Given the description of an element on the screen output the (x, y) to click on. 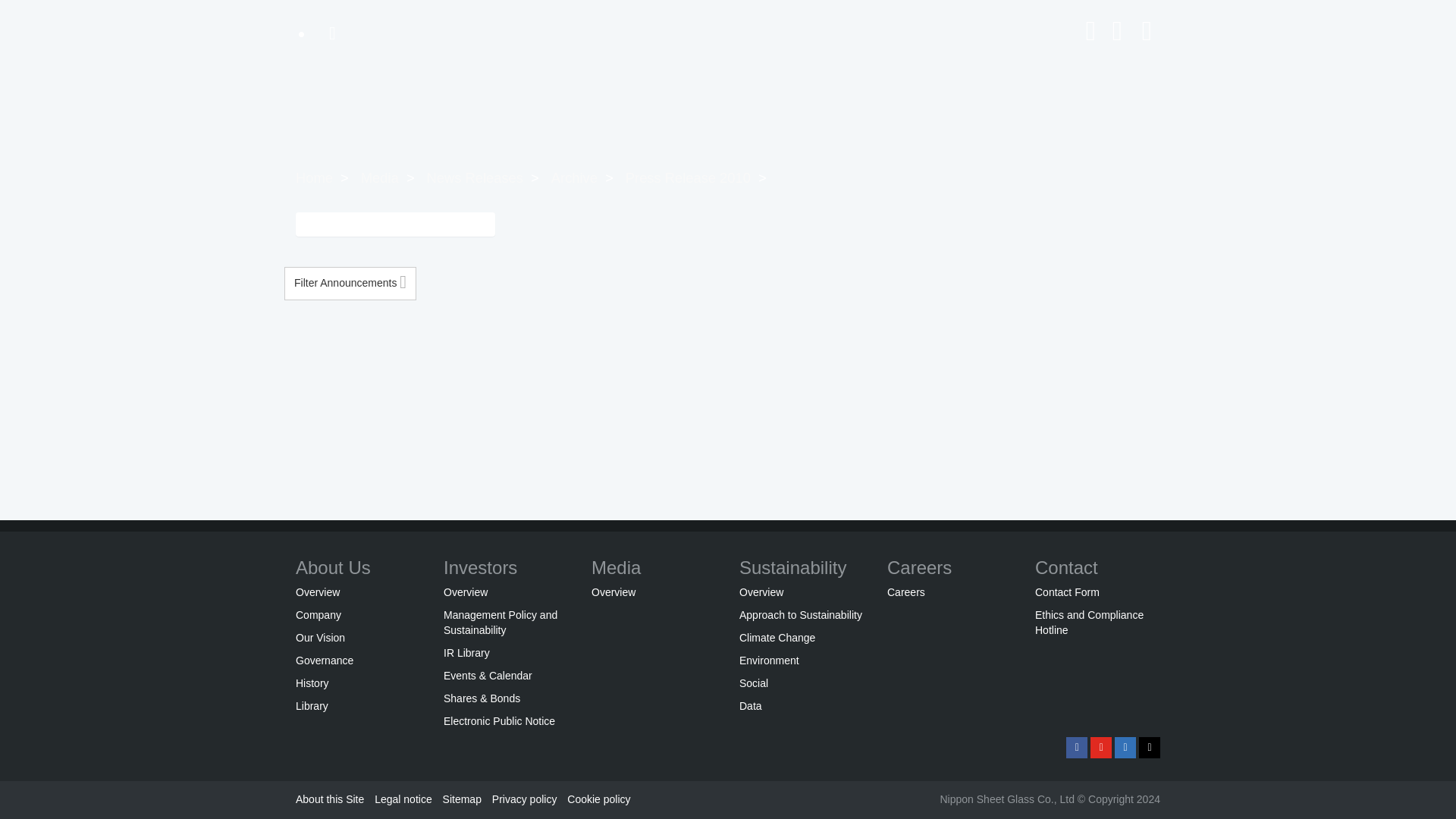
News Releases (474, 177)
Media (379, 177)
Press Release 2010 (688, 177)
Home (314, 177)
Archive (573, 177)
